Given the description of an element on the screen output the (x, y) to click on. 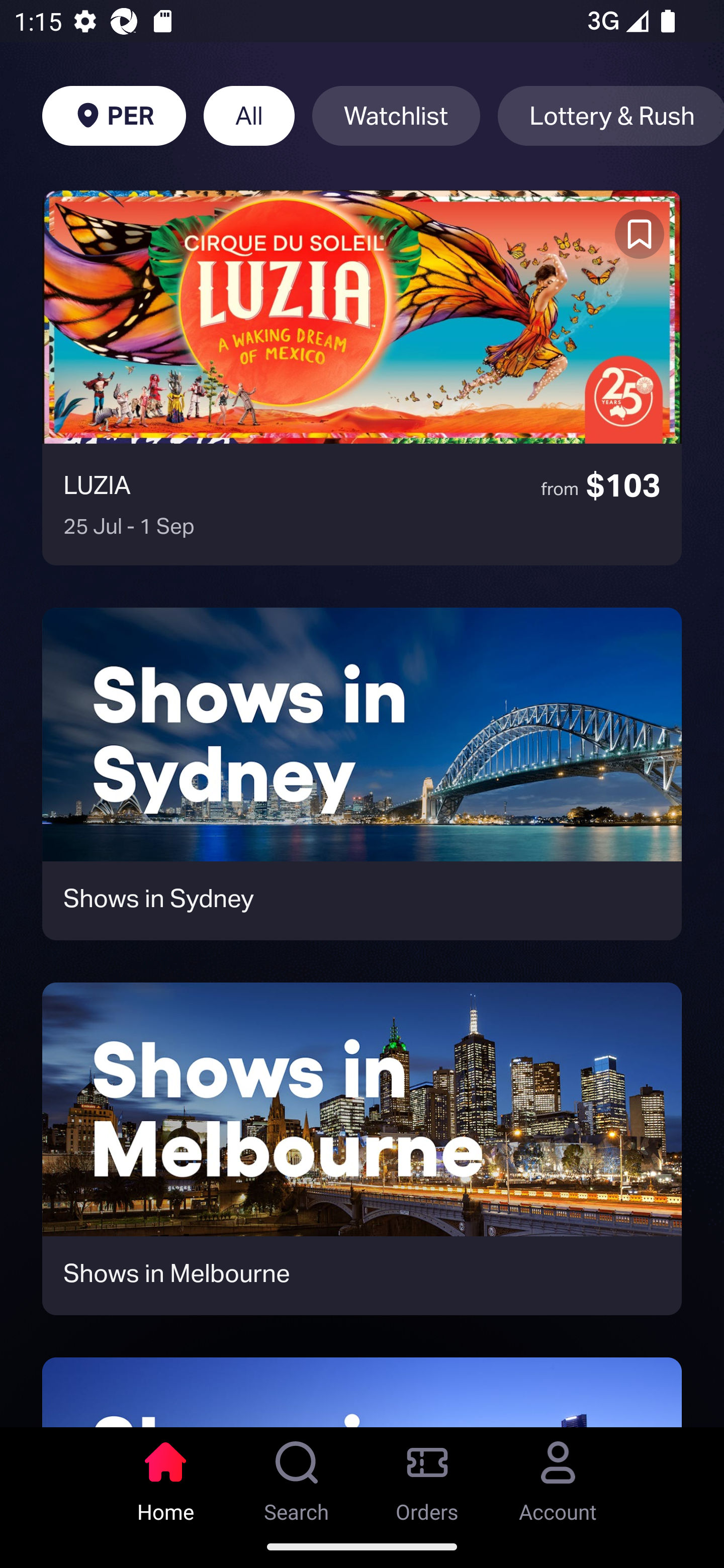
PER (113, 115)
All (248, 115)
Watchlist (396, 115)
Lottery & Rush (611, 115)
LUZIA from $103 25 Jul - 1 Sep (361, 377)
Shows in Sydney (361, 774)
Shows in Melbourne (361, 1149)
Search (296, 1475)
Orders (427, 1475)
Account (558, 1475)
